Given the description of an element on the screen output the (x, y) to click on. 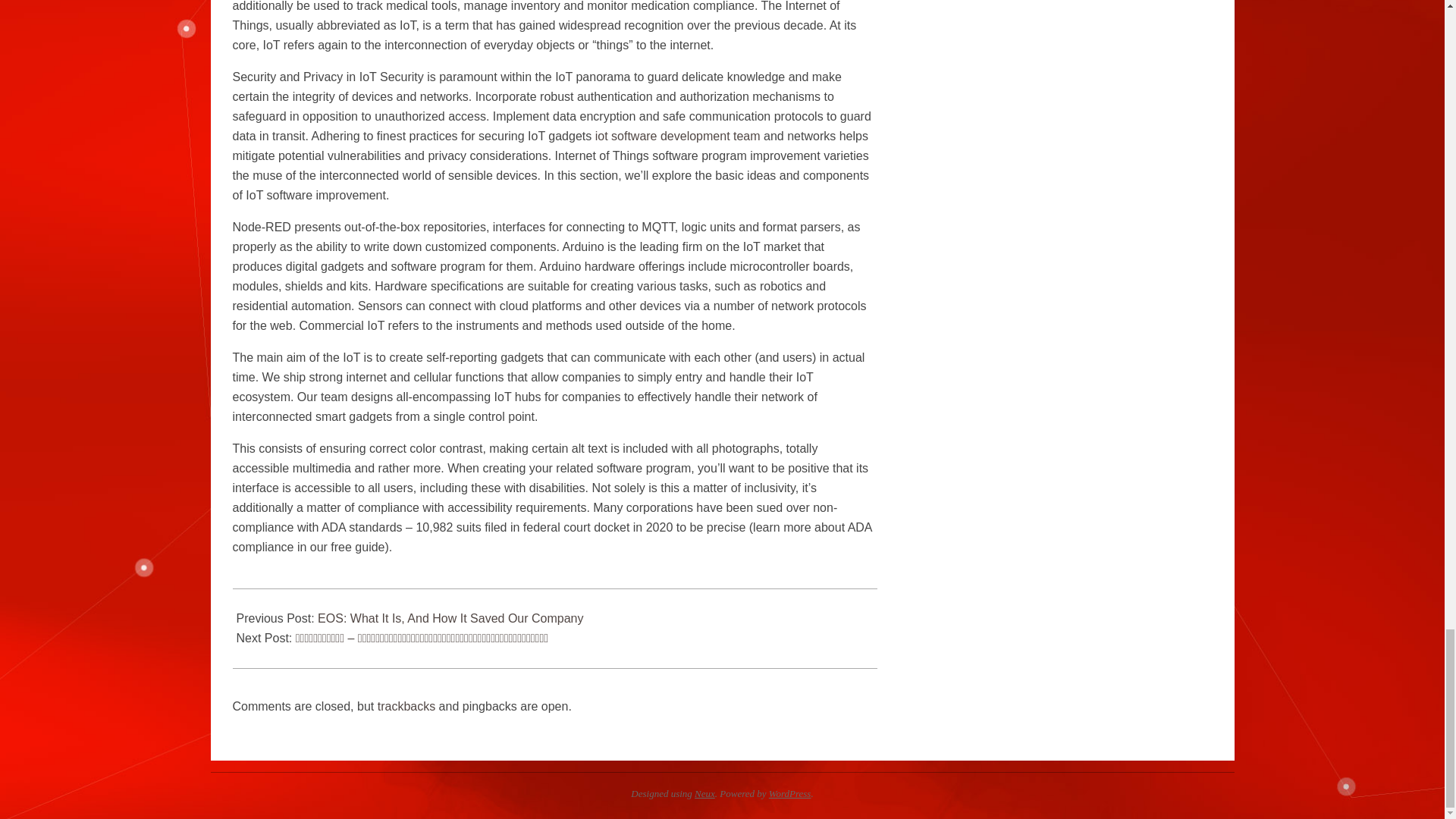
iot software development team (677, 135)
trackbacks (406, 706)
EOS: What It Is, And How It Saved Our Company (450, 617)
Neux WordPress Theme (704, 793)
